Given the description of an element on the screen output the (x, y) to click on. 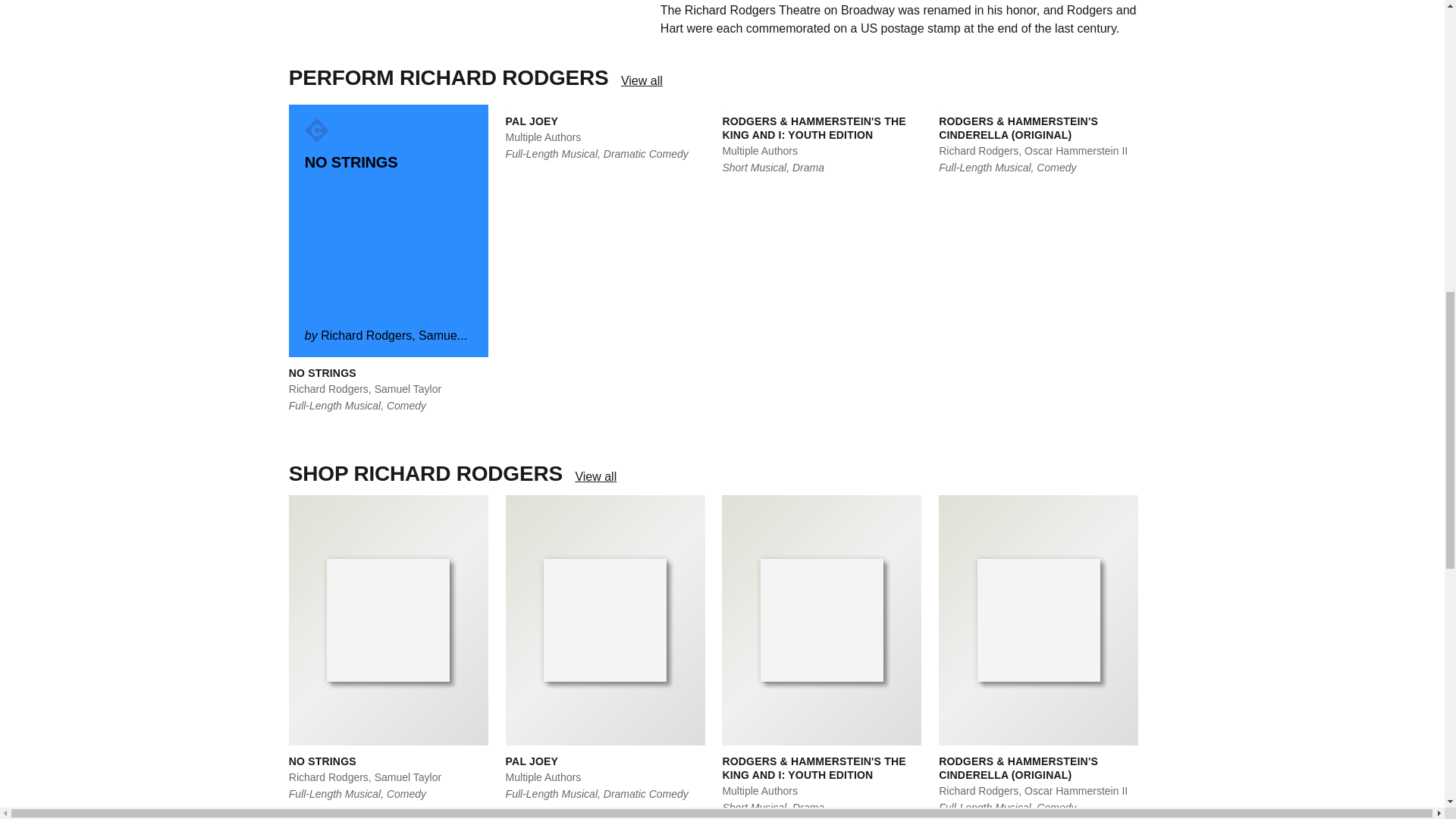
PAL JOEY (531, 121)
View all (641, 80)
NO STRINGS (322, 372)
